Given the description of an element on the screen output the (x, y) to click on. 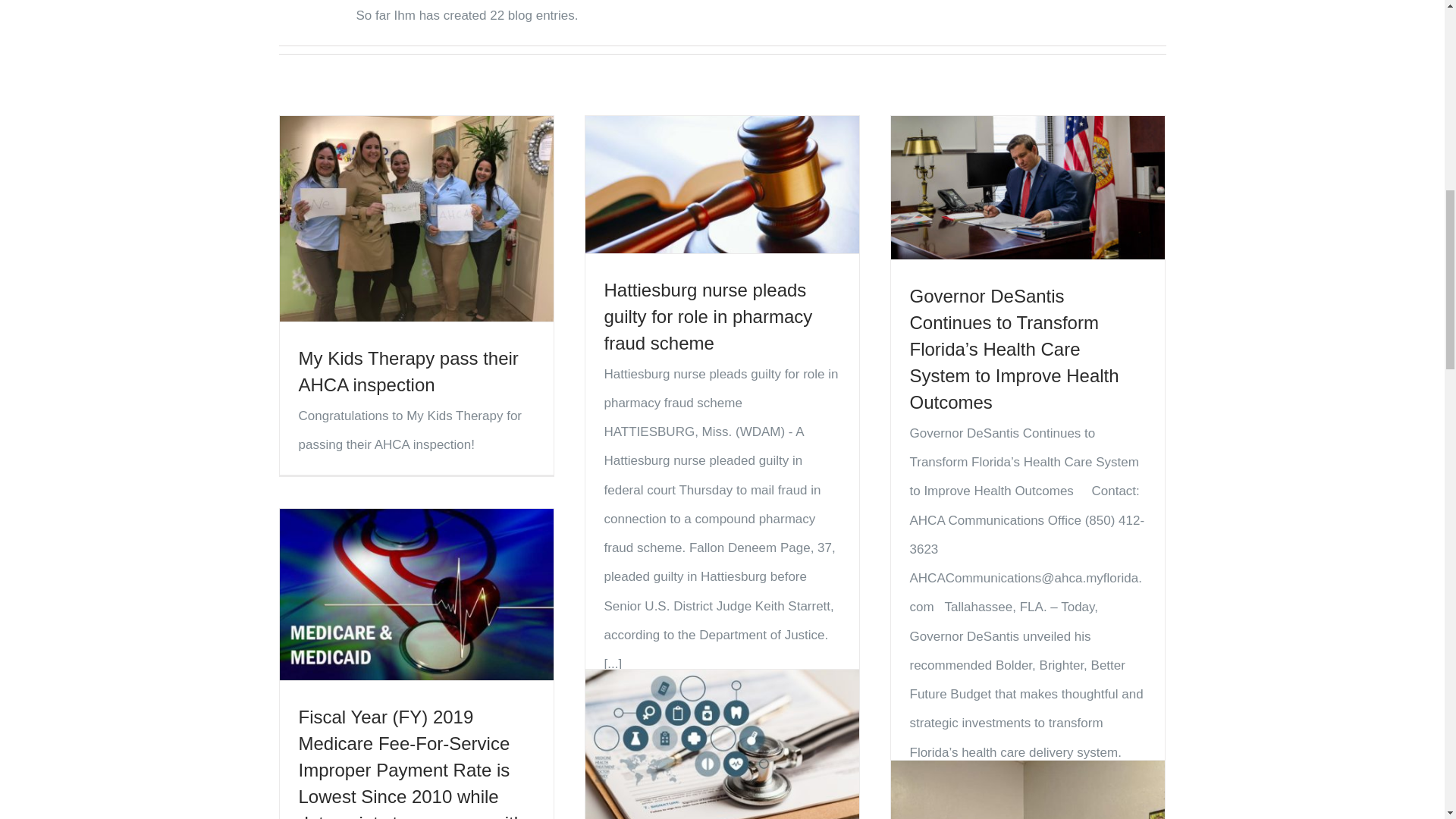
My Kids Therapy pass their AHCA inspection (408, 371)
